Given the description of an element on the screen output the (x, y) to click on. 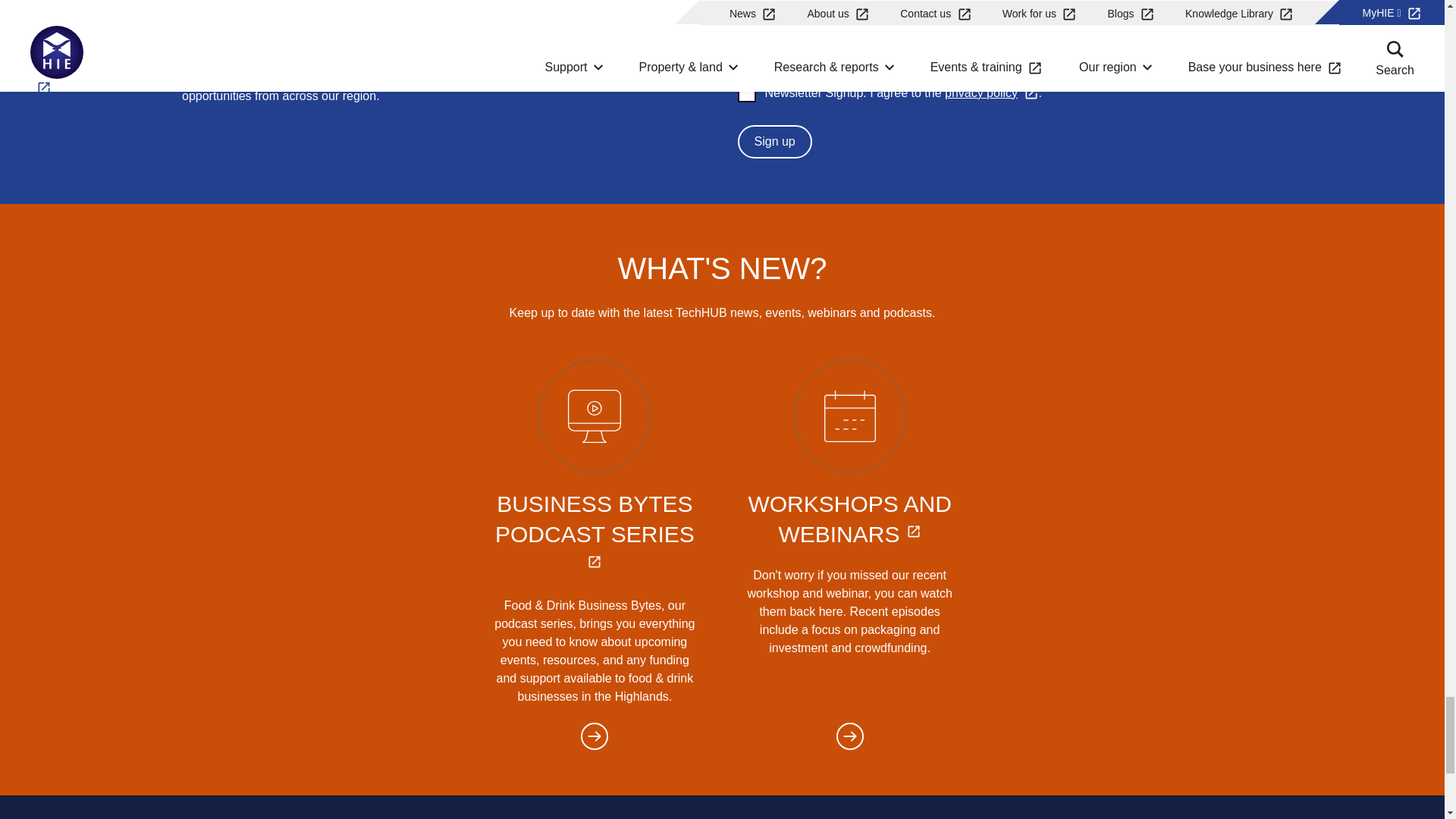
Privacy and cookie policy (991, 93)
